Given the description of an element on the screen output the (x, y) to click on. 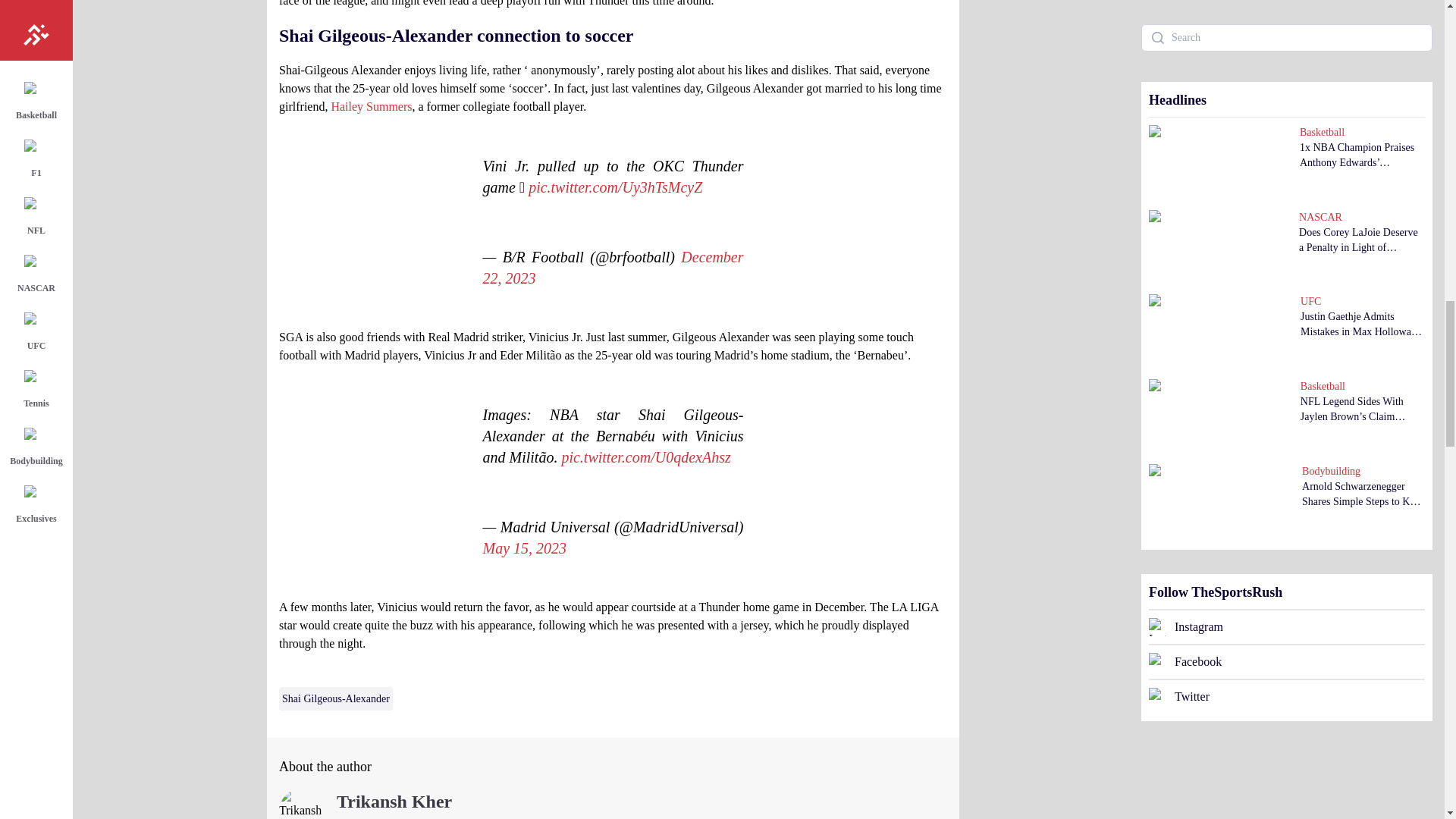
Shai Gilgeous-Alexander (336, 698)
Hailey Summers (371, 106)
Shai Gilgeous-Alexander (336, 698)
May 15, 2023 (523, 547)
December 22, 2023 (611, 267)
